Given the description of an element on the screen output the (x, y) to click on. 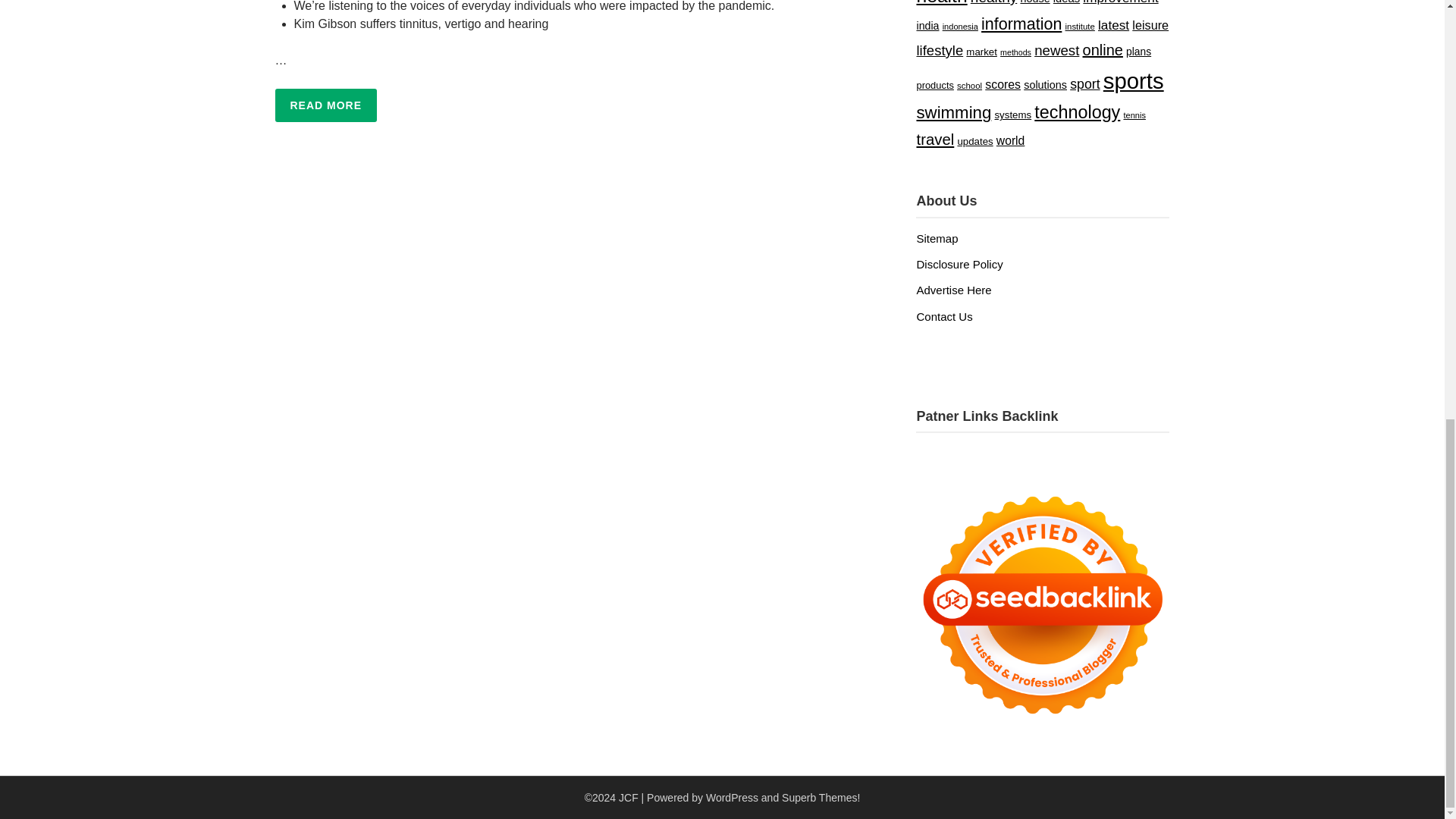
healthy (993, 2)
health (940, 2)
information (1021, 24)
india (927, 25)
Seedbacklink (1042, 605)
indonesia (960, 26)
READ MORE (326, 105)
improvement (1120, 2)
house (1034, 2)
ideas (1066, 2)
